Given the description of an element on the screen output the (x, y) to click on. 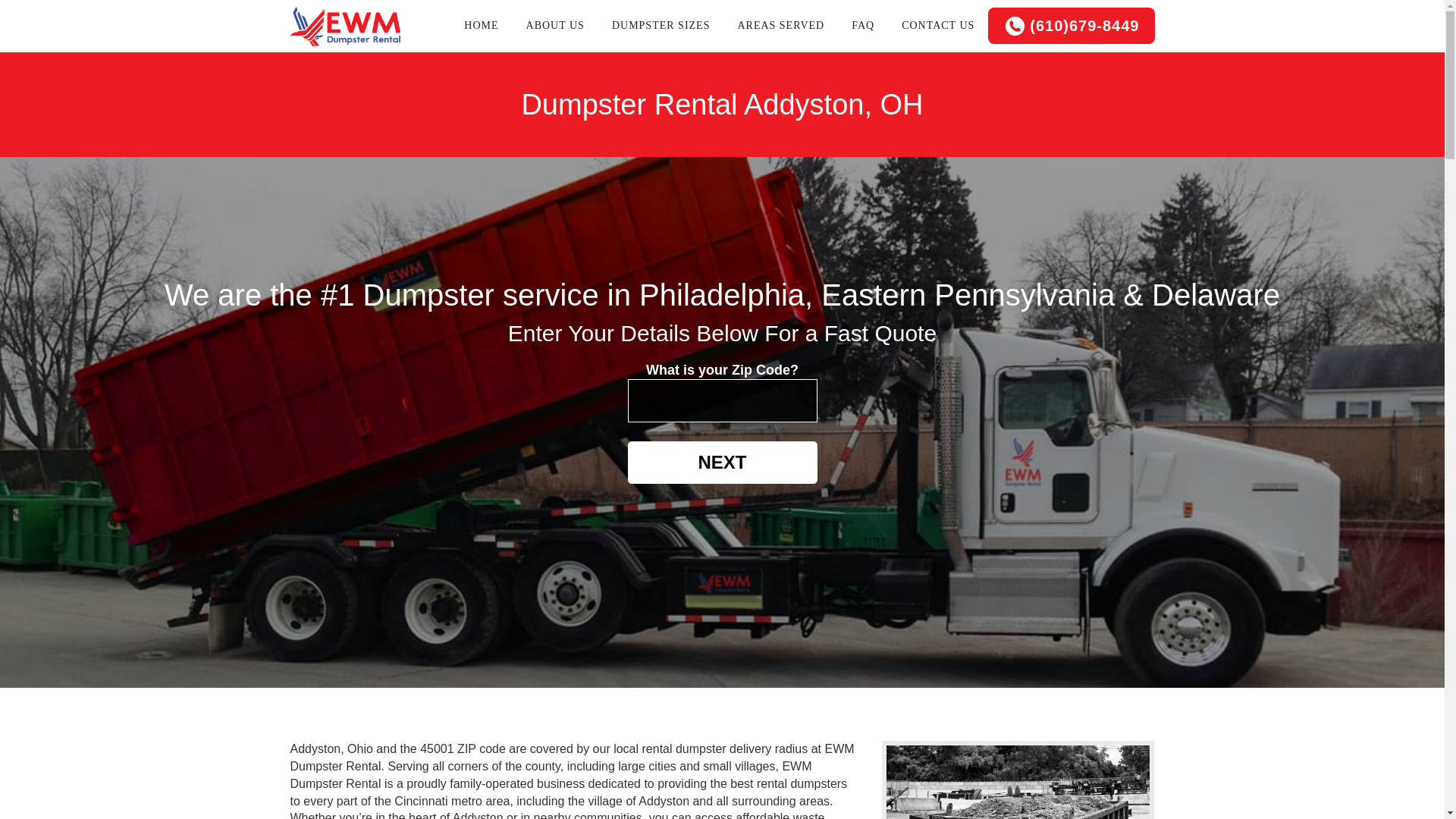
NEXT (721, 462)
FAQ (863, 26)
ABOUT US (555, 26)
HOME (480, 26)
DUMPSTER SIZES (660, 26)
AREAS SERVED (780, 26)
CONTACT US (938, 26)
